Given the description of an element on the screen output the (x, y) to click on. 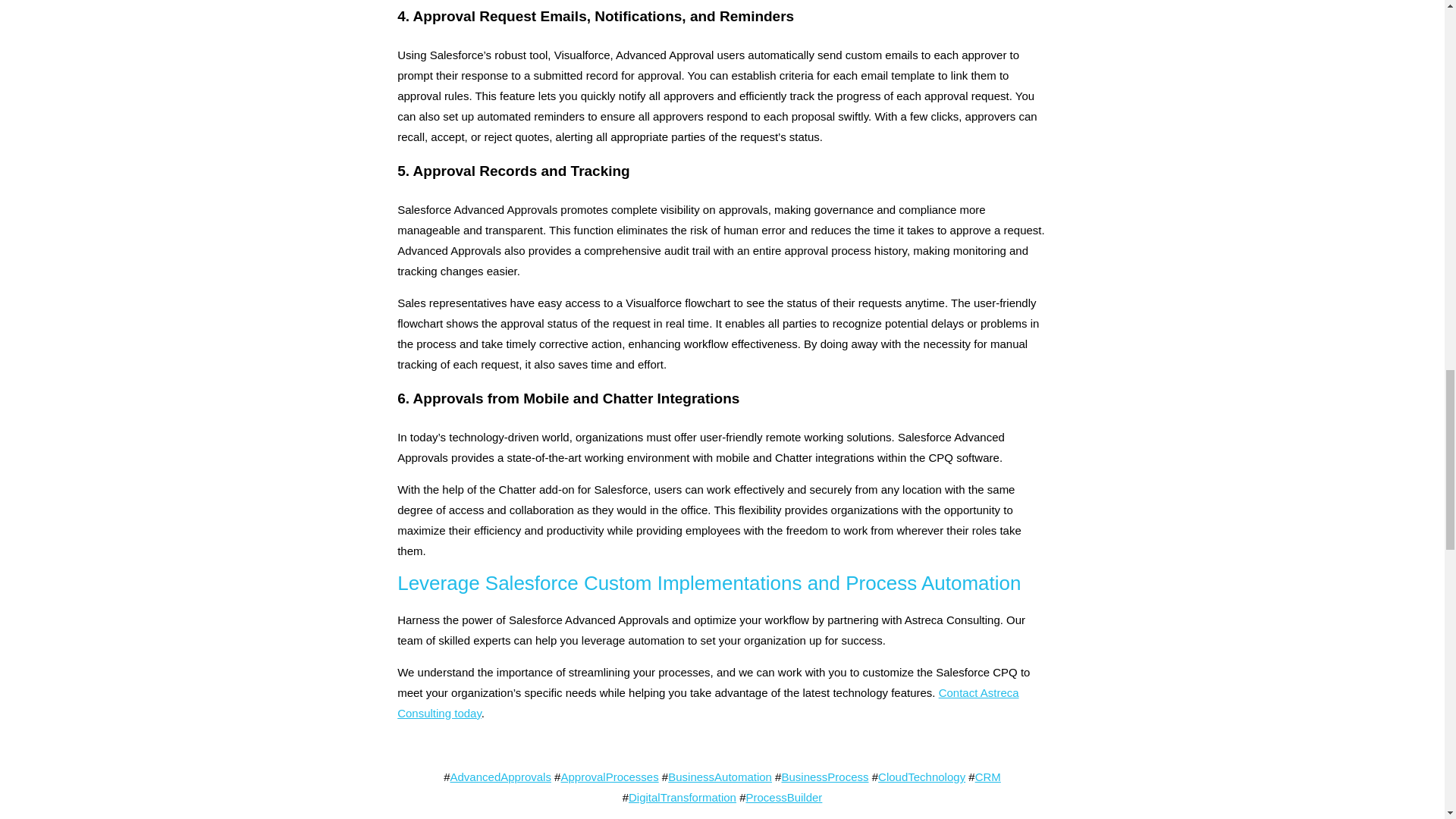
ApprovalProcesses (609, 776)
CloudTechnology (921, 776)
BusinessProcess (823, 776)
BusinessAutomation (719, 776)
AdvancedApprovals (500, 776)
Contact Astreca Consulting today (707, 702)
